Given the description of an element on the screen output the (x, y) to click on. 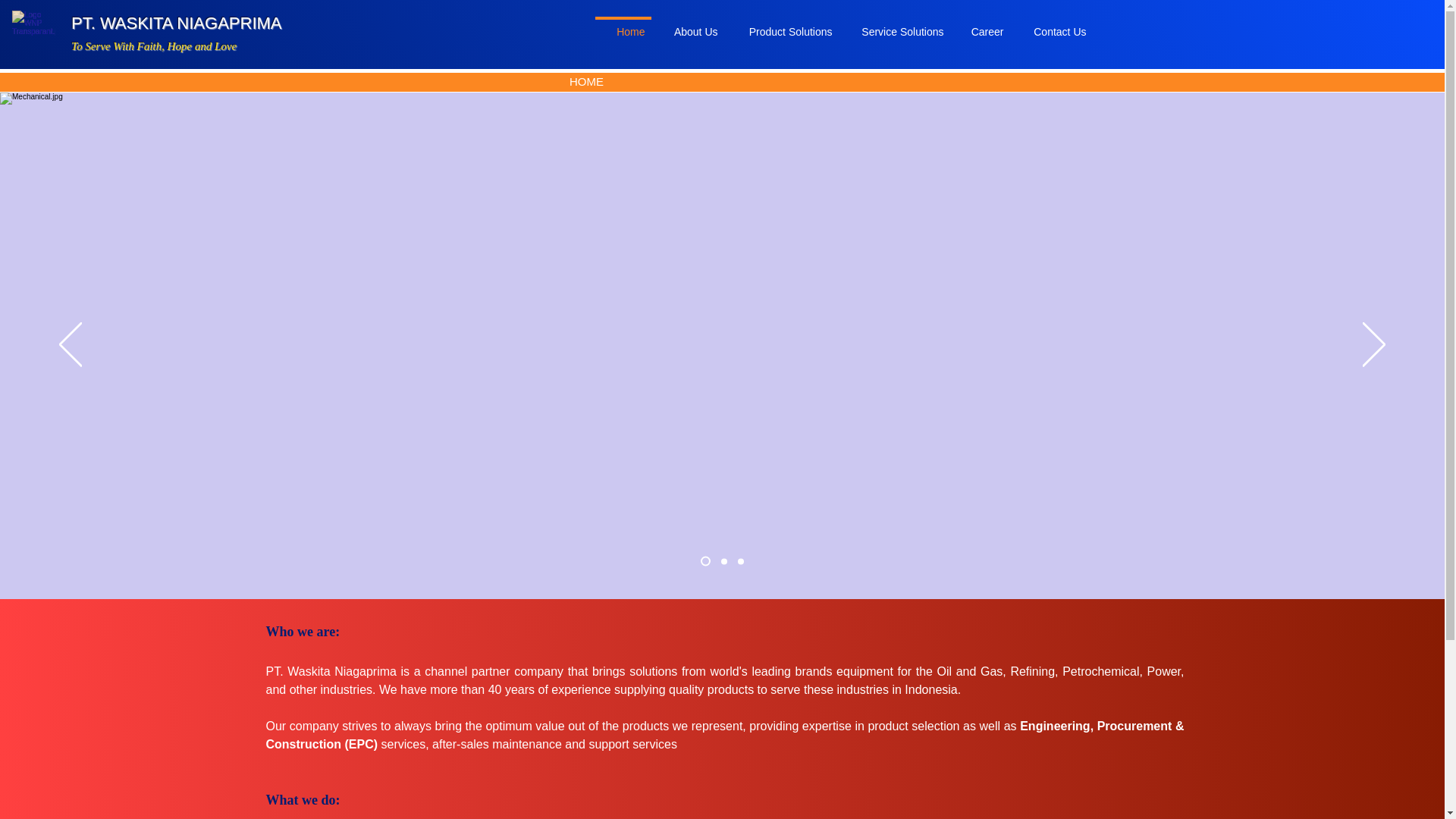
Service Solutions (894, 25)
About Us (686, 25)
Career (979, 25)
Product Solutions (780, 25)
Contact Us (1051, 25)
PT. WASKITA NIAGAPRIMA (176, 22)
Home (622, 25)
